Given the description of an element on the screen output the (x, y) to click on. 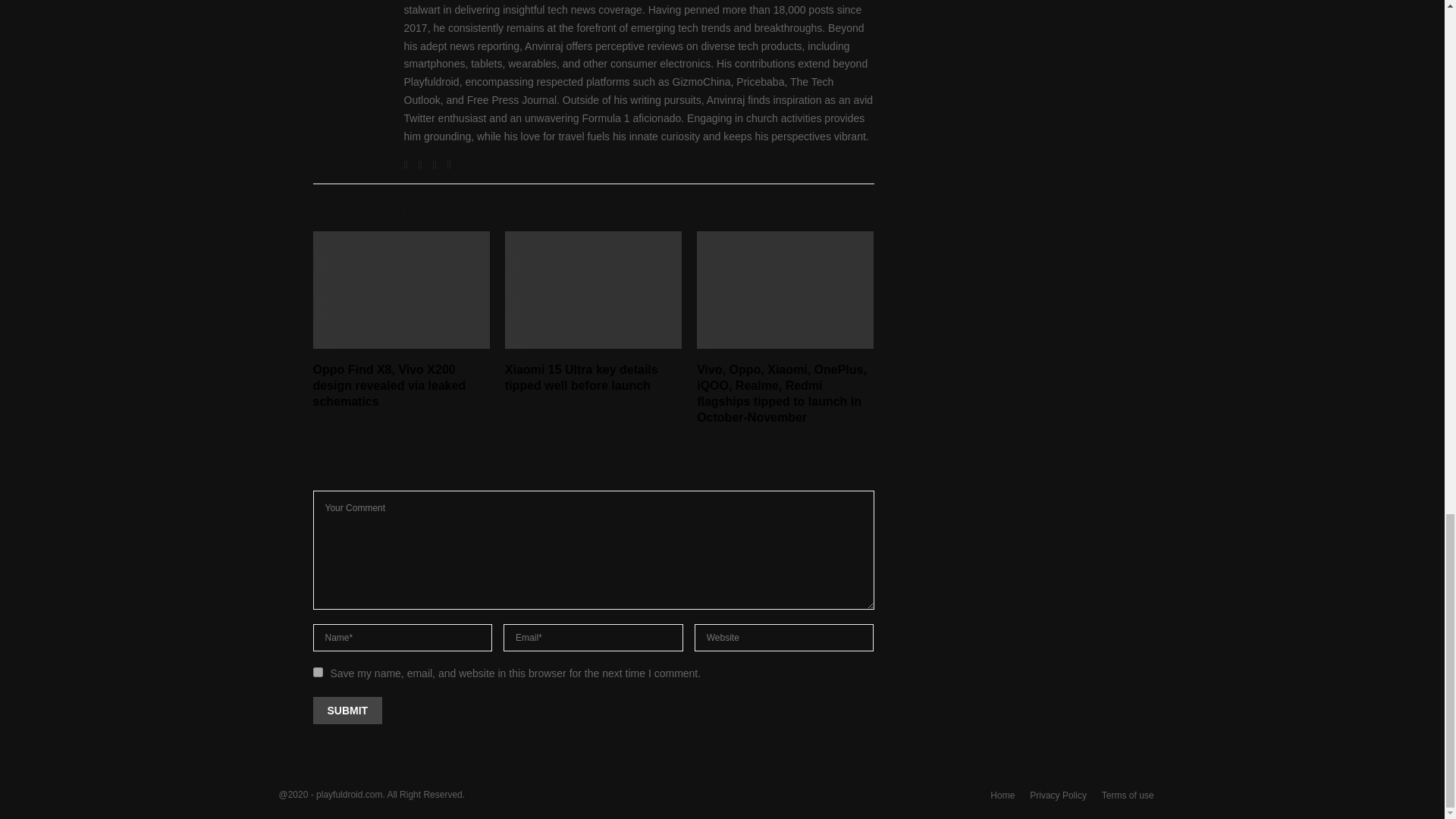
Submit (347, 709)
yes (317, 672)
